Given the description of an element on the screen output the (x, y) to click on. 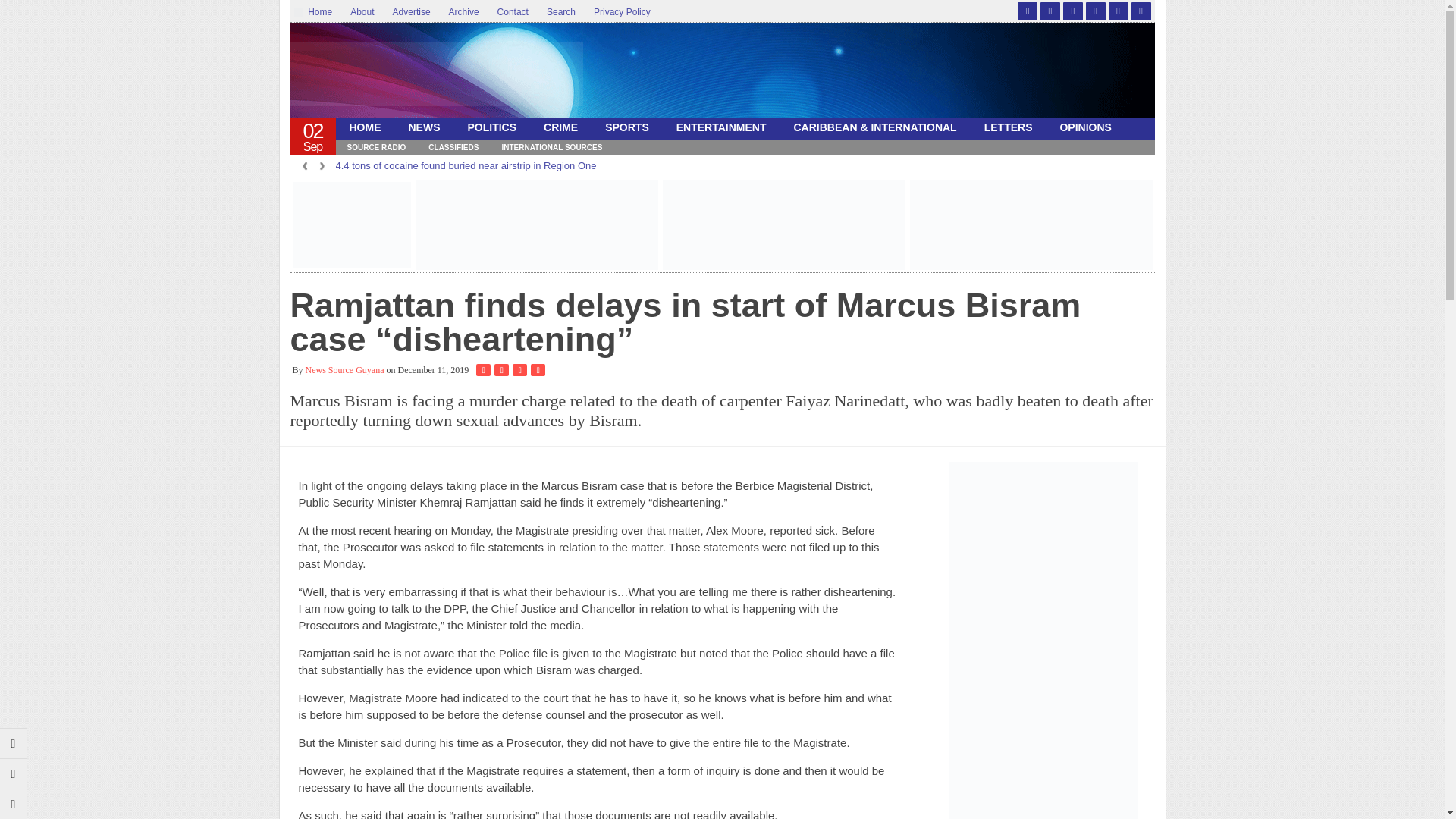
4.4 tons of cocaine found buried near airstrip in Region One (464, 165)
Advertise (411, 12)
CLASSIFIEDS (452, 147)
INTERNATIONAL SOURCES (550, 147)
ENTERTAINMENT (721, 127)
NEWS (423, 127)
Search (561, 12)
POLITICS (490, 127)
